Given the description of an element on the screen output the (x, y) to click on. 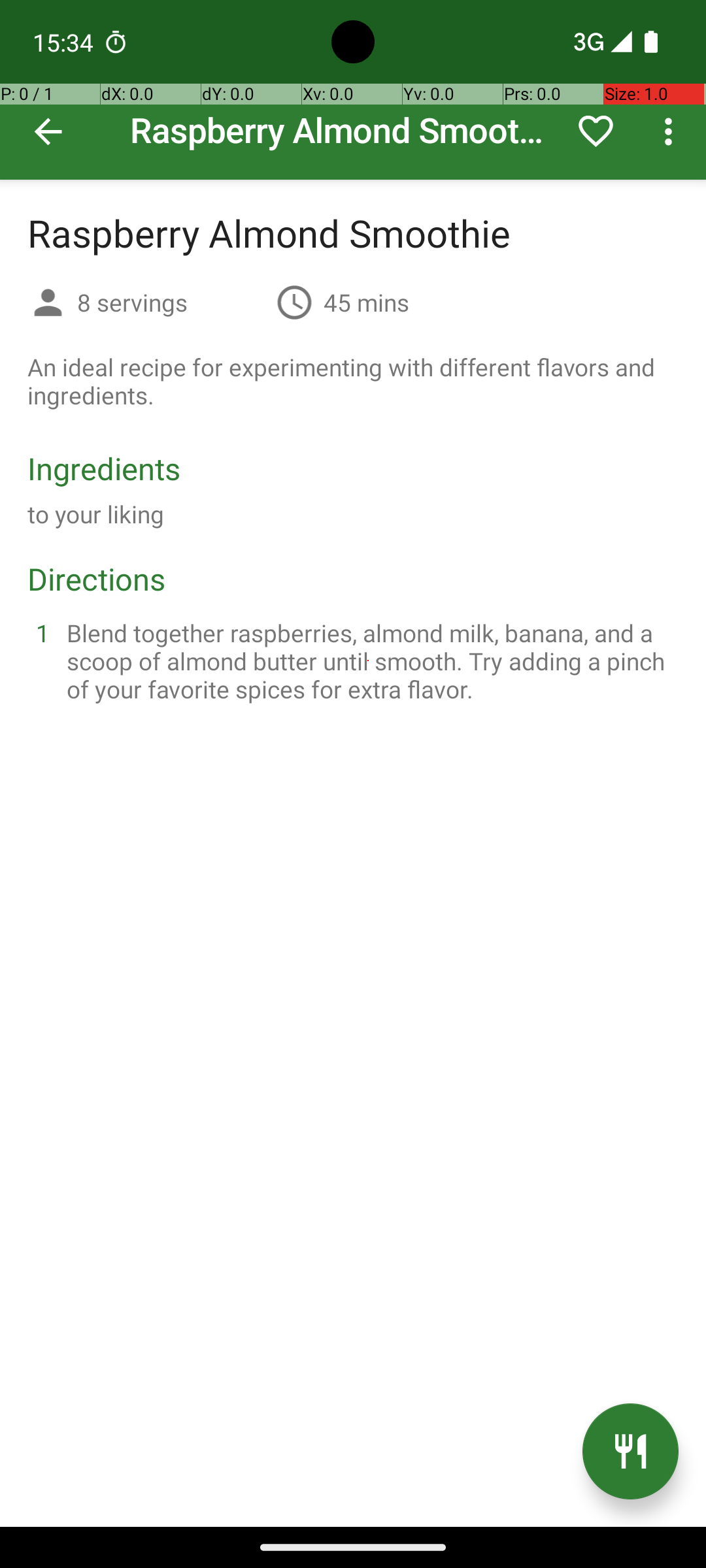
Raspberry Almond Smoothie Element type: android.widget.FrameLayout (353, 89)
Blend together raspberries, almond milk, banana, and a scoop of almond butter until smooth. Try adding a pinch of your favorite spices for extra flavor. Element type: android.widget.TextView (368, 660)
